Given the description of an element on the screen output the (x, y) to click on. 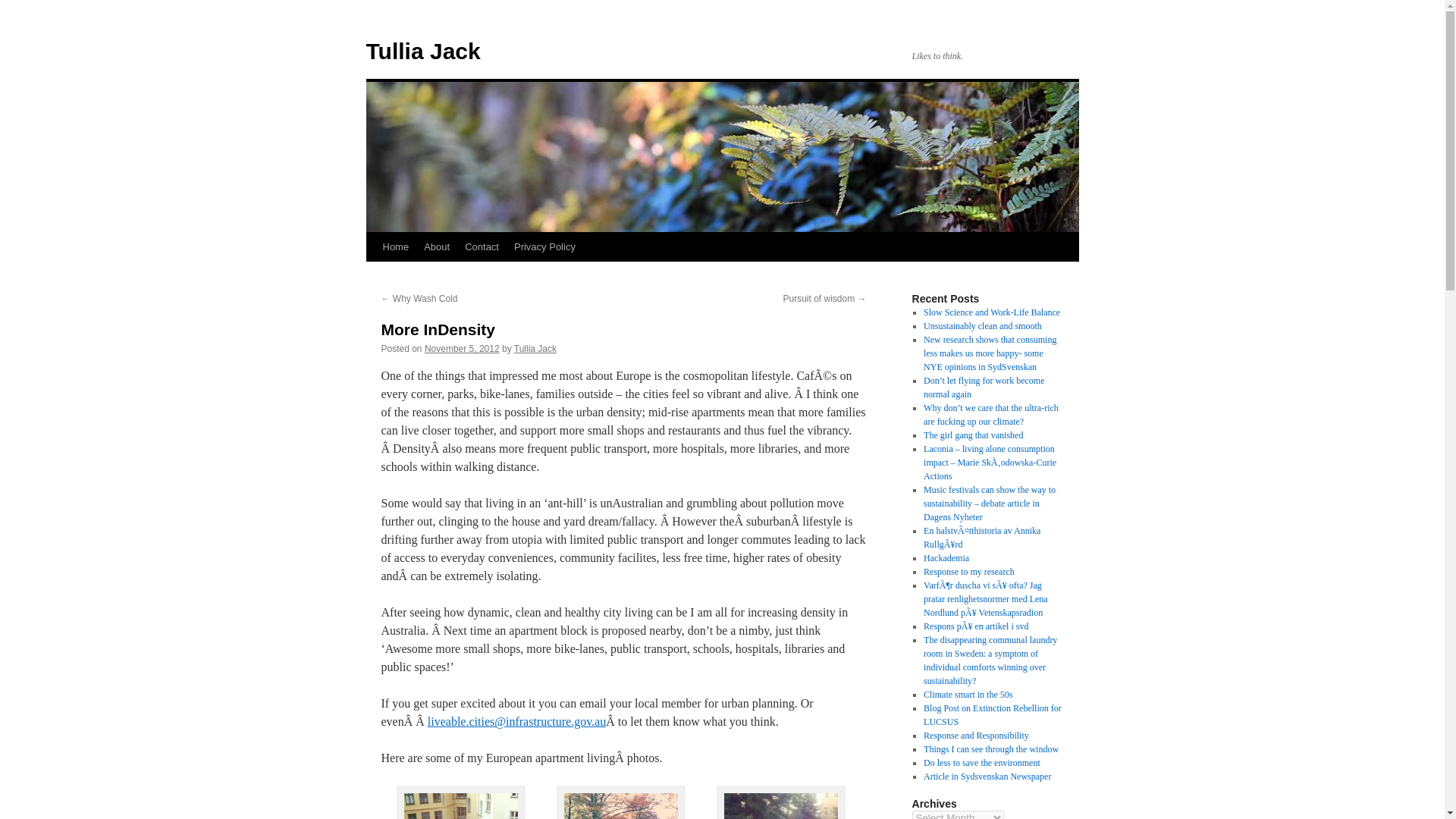
12:51 am (462, 348)
November 5, 2012 (462, 348)
Privacy Policy (544, 246)
View all posts by Tullia Jack (534, 348)
Contact (481, 246)
Unsustainably clean and smooth (982, 326)
Tullia Jack (422, 50)
About (436, 246)
Slow Science and Work-Life Balance (991, 312)
Home (395, 246)
Tullia Jack (534, 348)
